Given the description of an element on the screen output the (x, y) to click on. 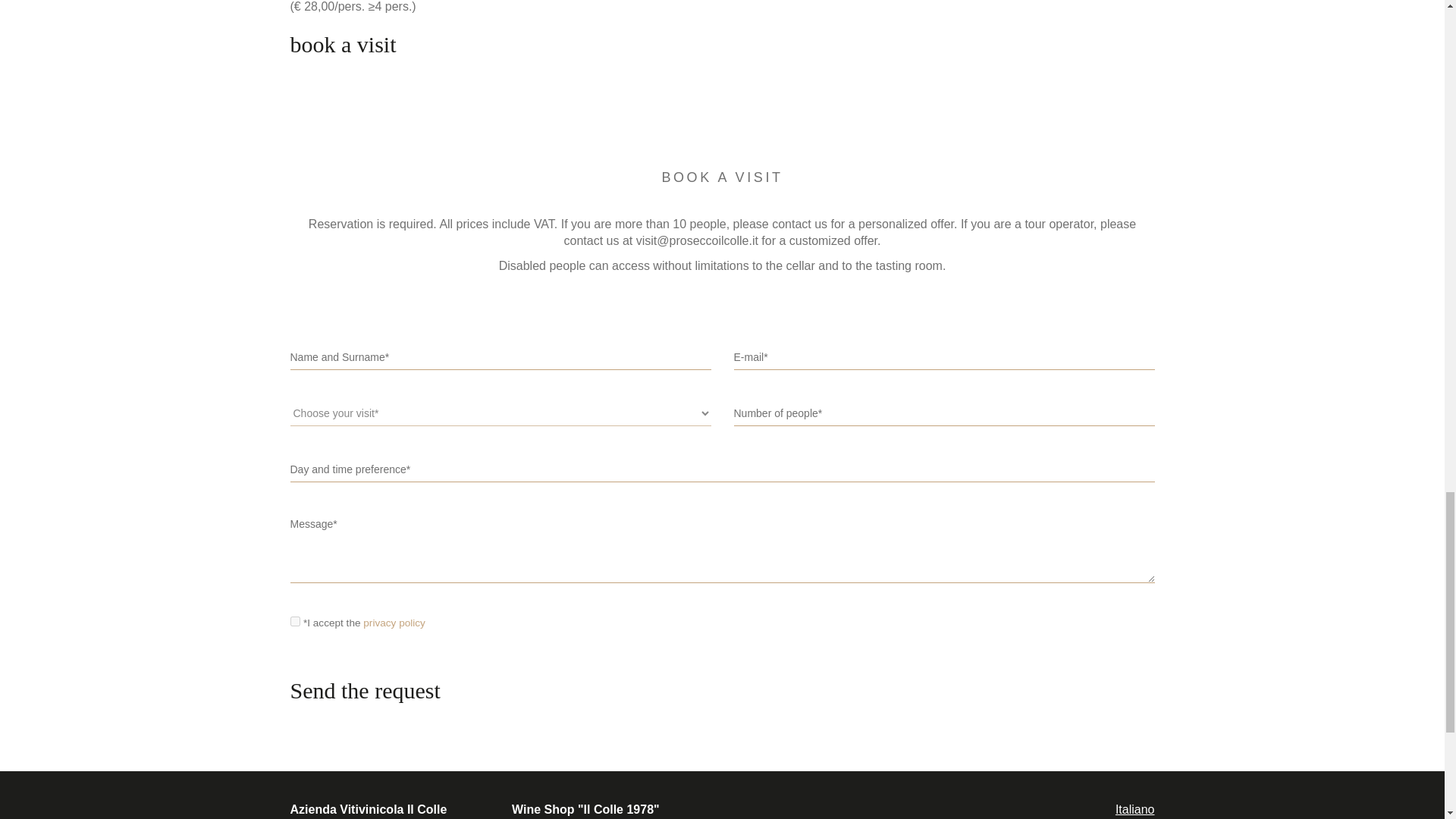
book a visit (349, 43)
privacy policy (393, 622)
Italiano (1134, 809)
Send the request (371, 690)
1 (294, 621)
